Given the description of an element on the screen output the (x, y) to click on. 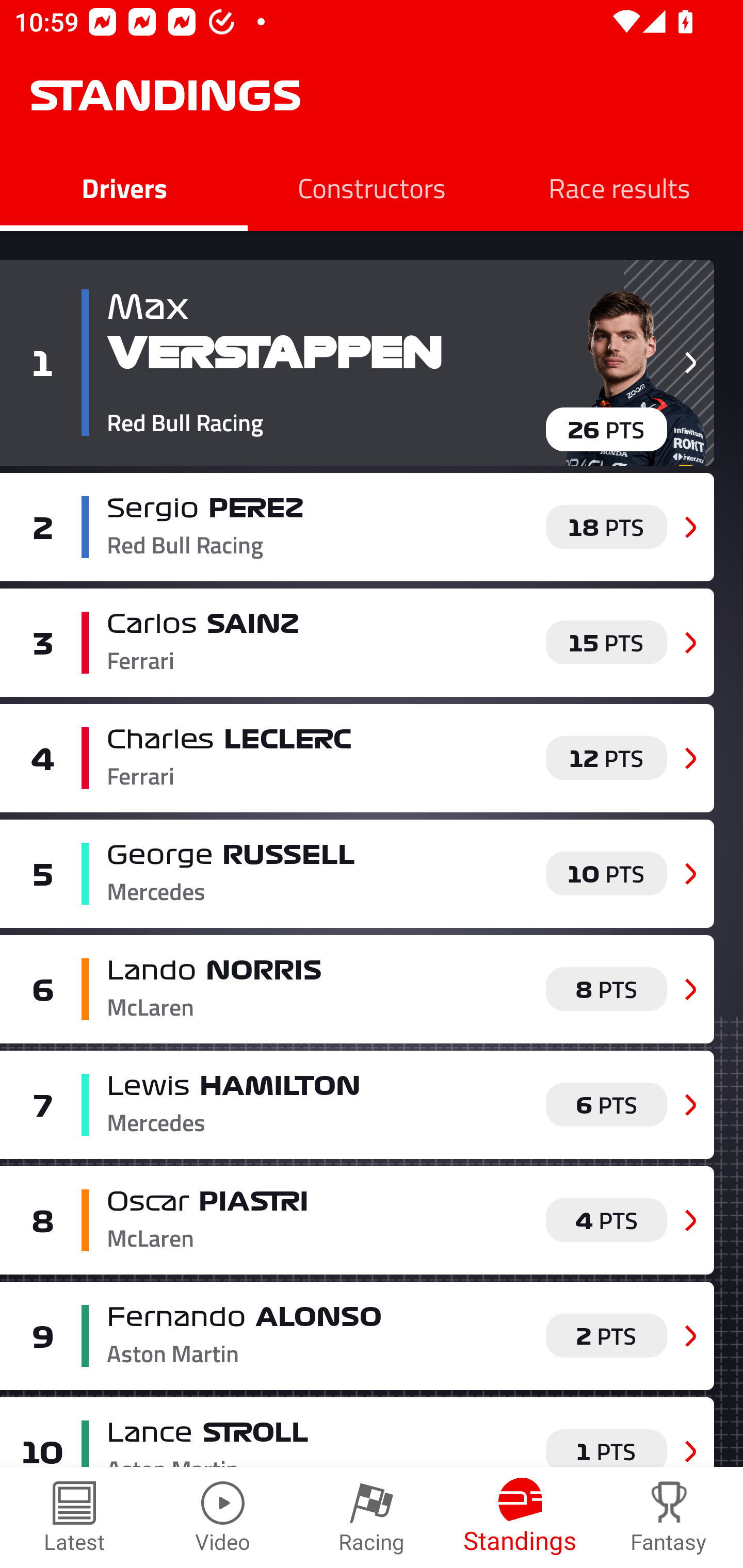
Constructors (371, 187)
Race results (619, 187)
1 Max VERSTAPPEN Red Bull Racing 26 PTS (357, 362)
2 Sergio PEREZ Red Bull Racing 18 PTS (357, 527)
3 Carlos SAINZ Ferrari 15 PTS (357, 642)
4 Charles LECLERC Ferrari 12 PTS (357, 758)
5 George RUSSELL Mercedes 10 PTS (357, 874)
6 Lando NORRIS McLaren 8 PTS (357, 988)
7 Lewis HAMILTON Mercedes 6 PTS (357, 1104)
8 Oscar PIASTRI McLaren 4 PTS (357, 1220)
9 Fernando ALONSO Aston Martin 2 PTS (357, 1335)
10 Lance STROLL Aston Martin 1 PTS (357, 1432)
Latest (74, 1517)
Video (222, 1517)
Racing (371, 1517)
Fantasy (668, 1517)
